Given the description of an element on the screen output the (x, y) to click on. 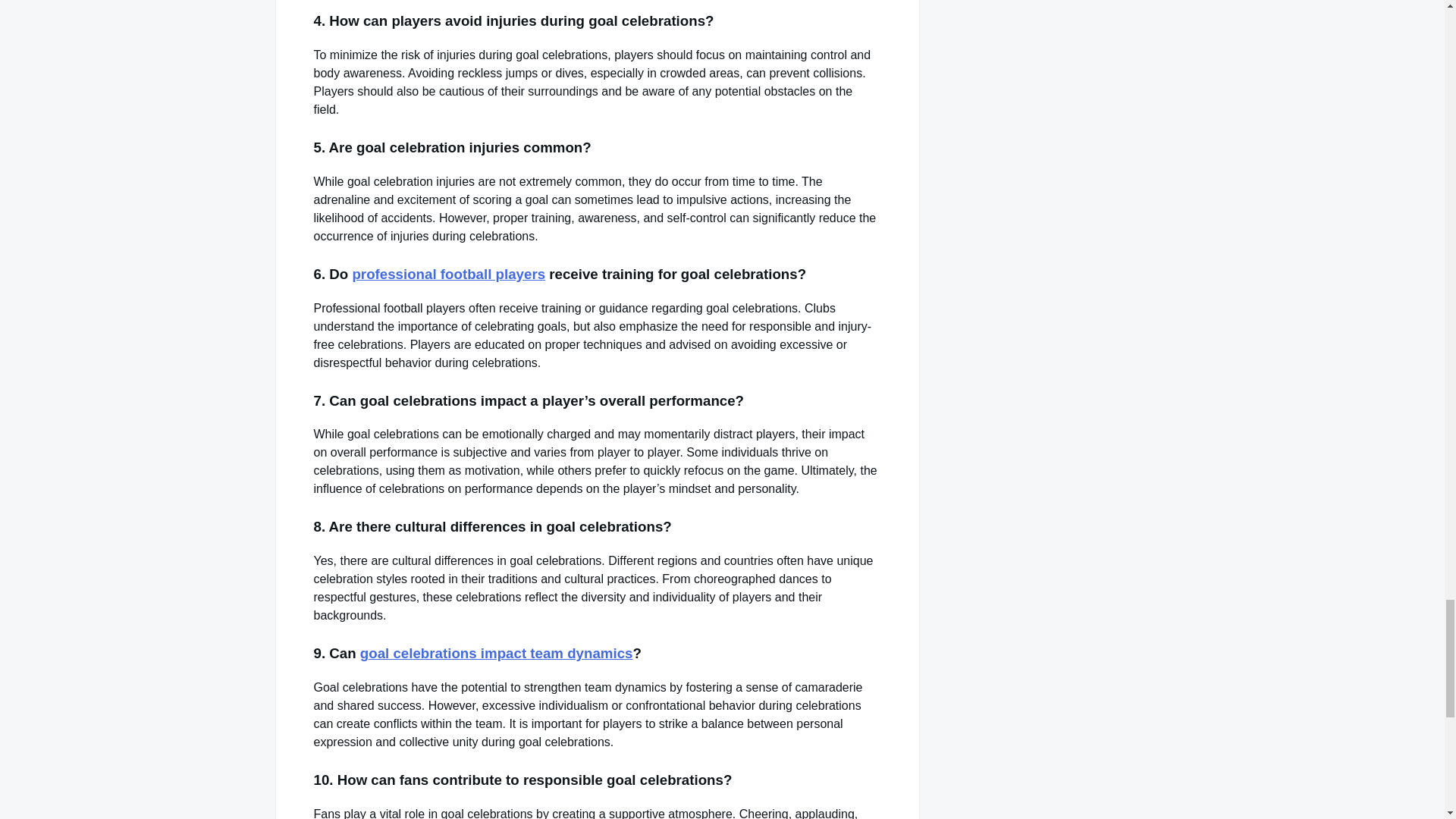
professional football players (448, 273)
goal celebrations impact team dynamics (496, 652)
